Given the description of an element on the screen output the (x, y) to click on. 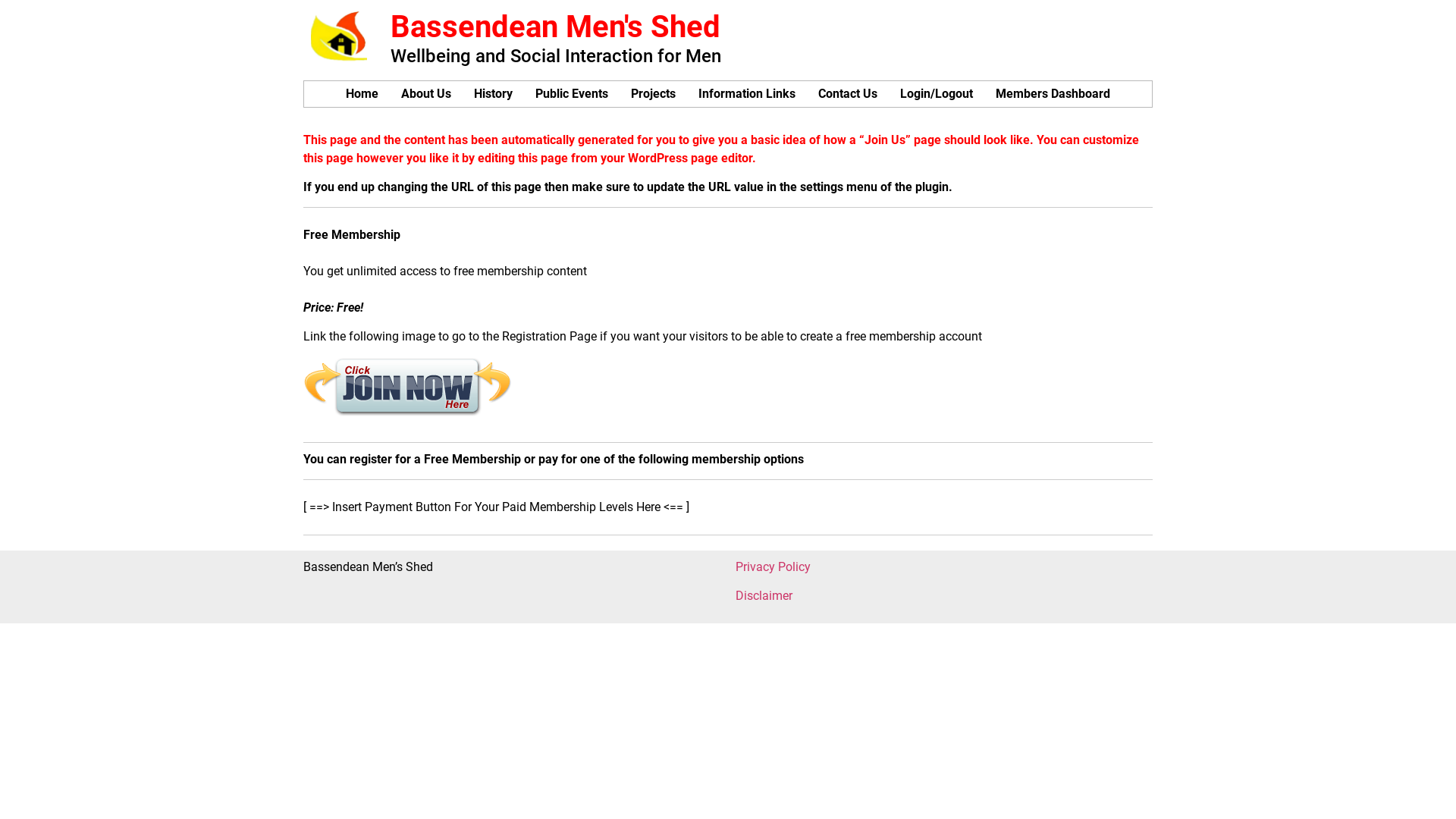
Bassendean Men's Shed Element type: text (555, 26)
Members Dashboard Element type: text (1052, 93)
Contact Us Element type: text (847, 93)
About Us Element type: text (425, 93)
Public Events Element type: text (571, 93)
Login/Logout Element type: text (936, 93)
Privacy Policy Element type: text (772, 566)
Join Now Element type: hover (408, 387)
Projects Element type: text (653, 93)
Home Element type: text (361, 93)
Disclaimer Element type: text (763, 595)
Information Links Element type: text (746, 93)
History Element type: text (493, 93)
